Given the description of an element on the screen output the (x, y) to click on. 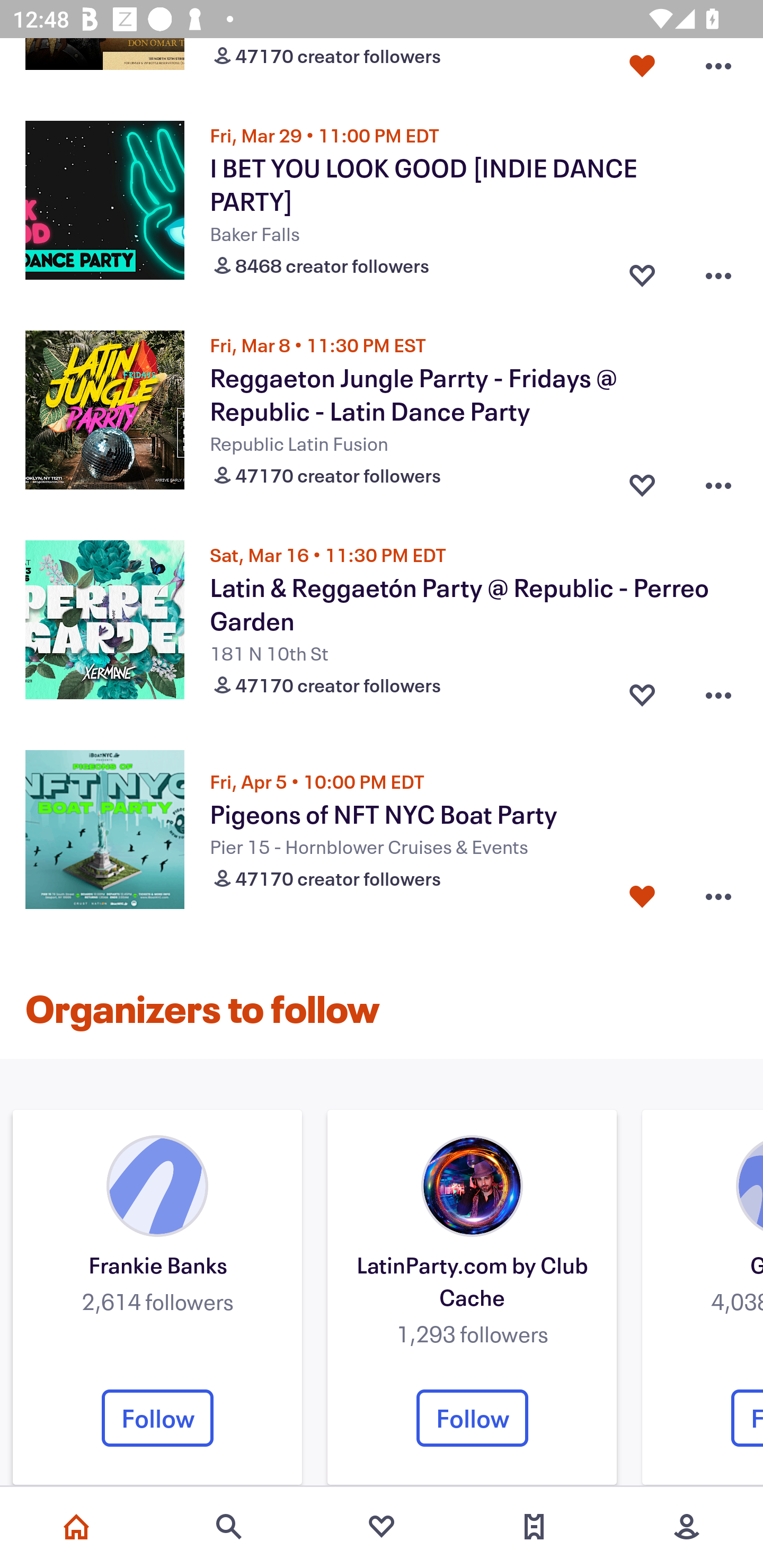
Favorite button (642, 66)
Overflow menu button (718, 66)
Favorite button (642, 271)
Overflow menu button (718, 271)
Favorite button (642, 480)
Overflow menu button (718, 480)
Favorite button (642, 690)
Overflow menu button (718, 690)
Favorite button (642, 896)
Overflow menu button (718, 896)
Follow Organizer's follow button (157, 1418)
Follow Organizer's follow button (471, 1418)
Home (76, 1526)
Search events (228, 1526)
Favorites (381, 1526)
Tickets (533, 1526)
More (686, 1526)
